Given the description of an element on the screen output the (x, y) to click on. 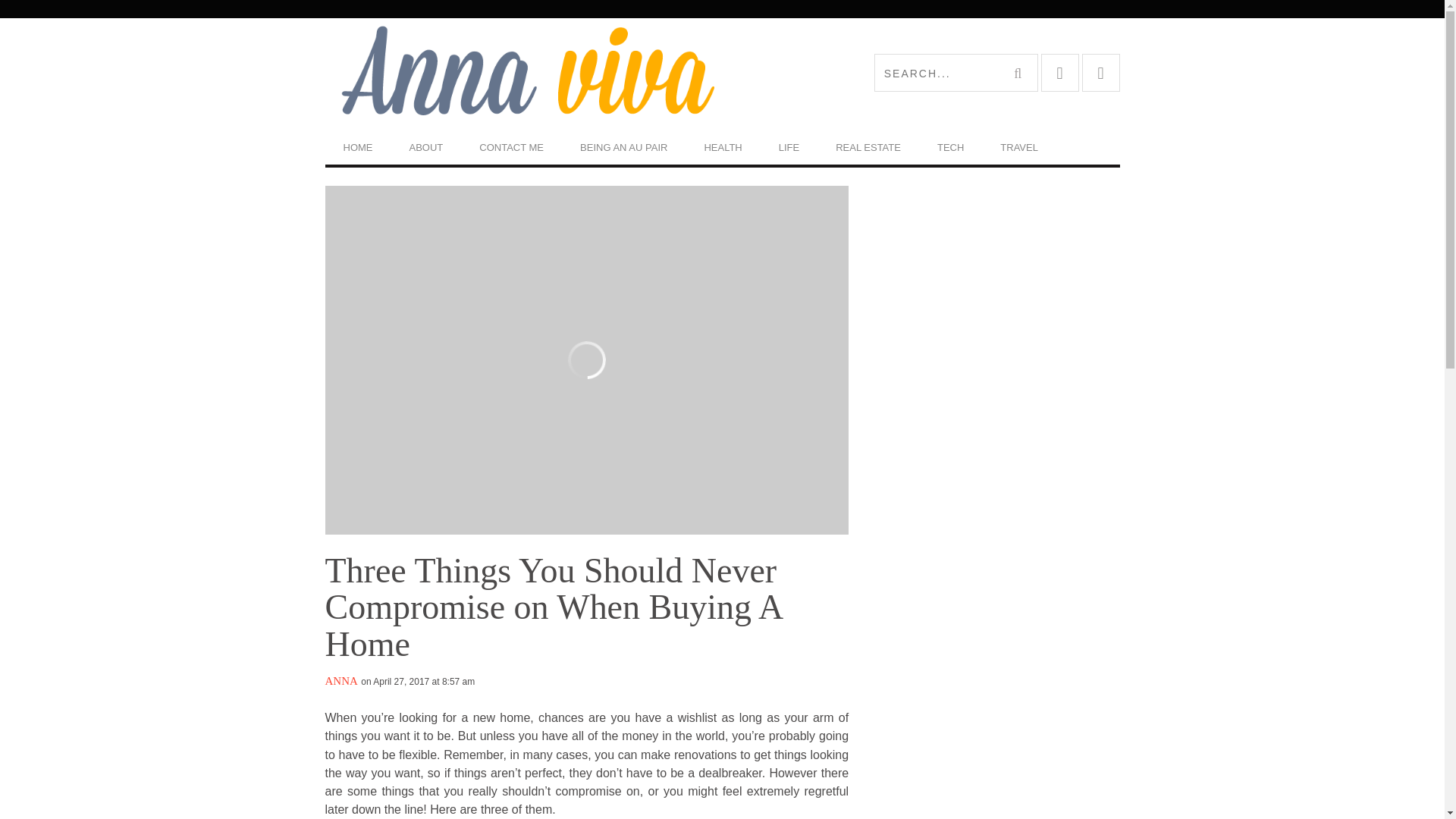
Anna Viva (523, 72)
TRAVEL (1019, 147)
HEALTH (722, 147)
TECH (949, 147)
Posts by Anna (340, 680)
LIFE (788, 147)
ANNA (340, 680)
CONTACT ME (511, 147)
HOME (357, 147)
ABOUT (426, 147)
